Given the description of an element on the screen output the (x, y) to click on. 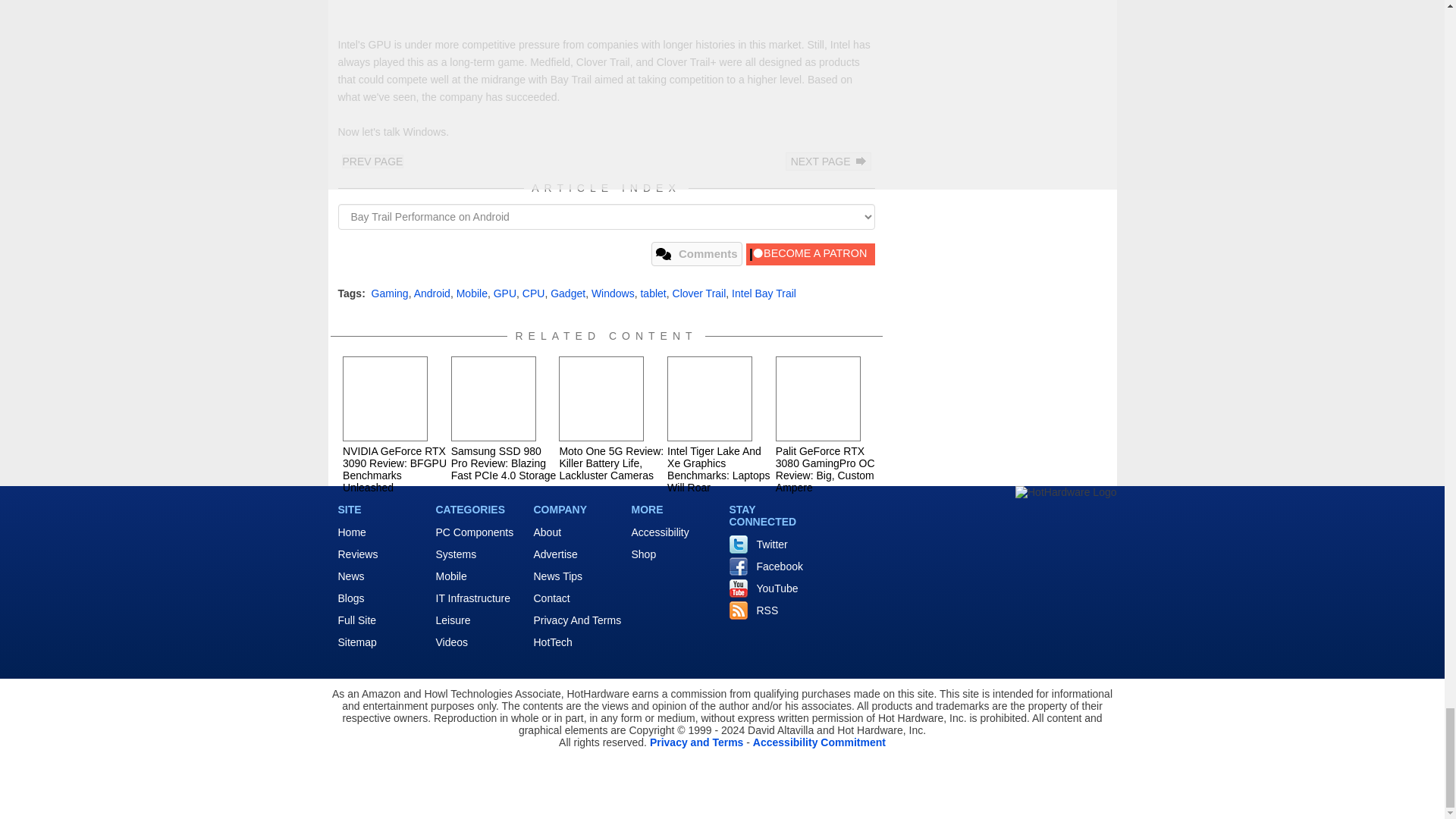
NVIDIA GeForce RTX 3090 Review: BFGPU Benchmarks Unleashed (384, 398)
Moto One 5G Review: Killer Battery Life, Lackluster Cameras (601, 398)
Comments (696, 253)
Samsung SSD 980 Pro Review: Blazing Fast PCIe 4.0 Storage (493, 398)
